Given the description of an element on the screen output the (x, y) to click on. 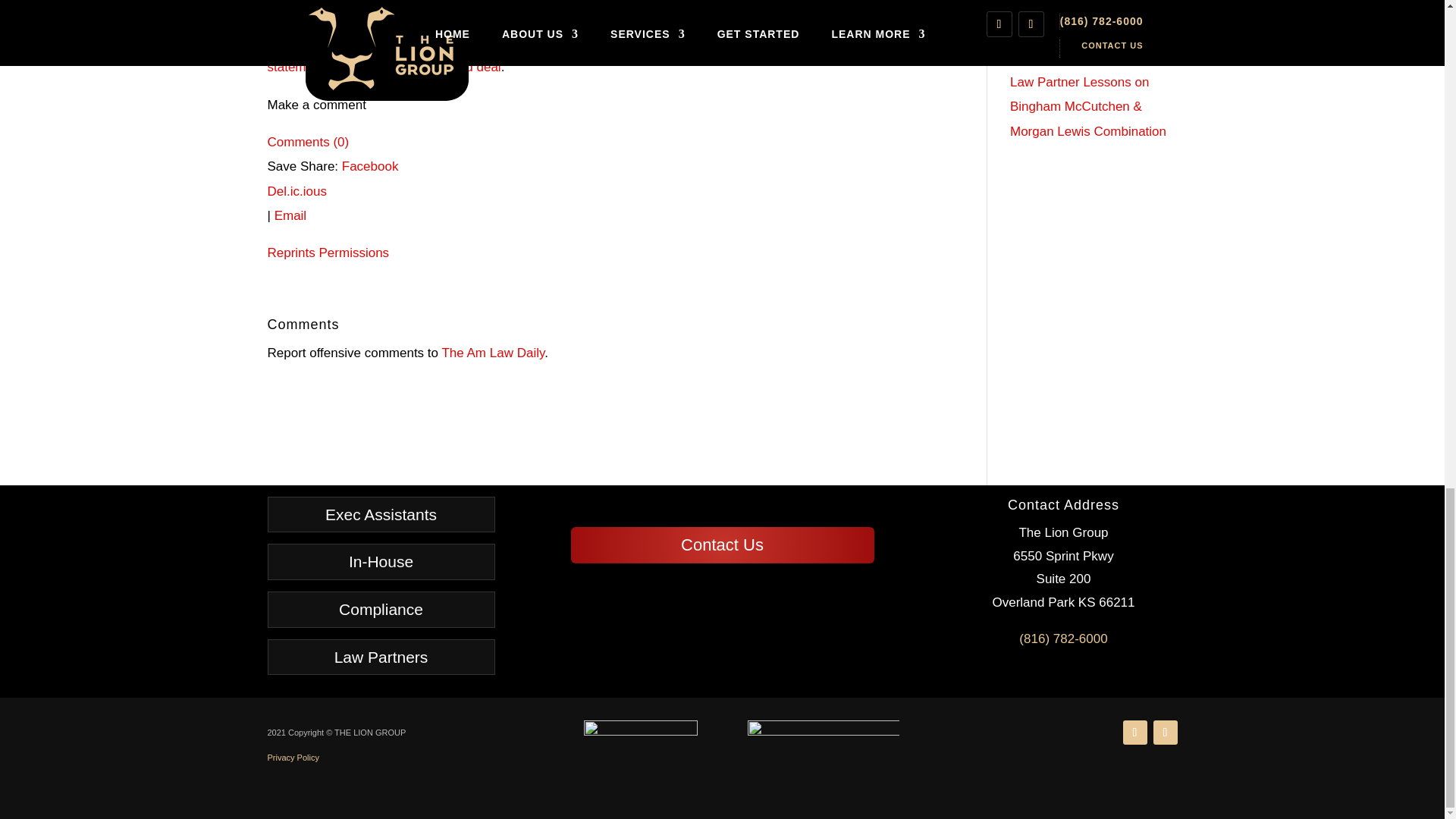
Follow on Facebook (1164, 732)
SRA-Mark-600-Transparent-300x148white (823, 753)
Follow on LinkedIn (1134, 732)
